Given the description of an element on the screen output the (x, y) to click on. 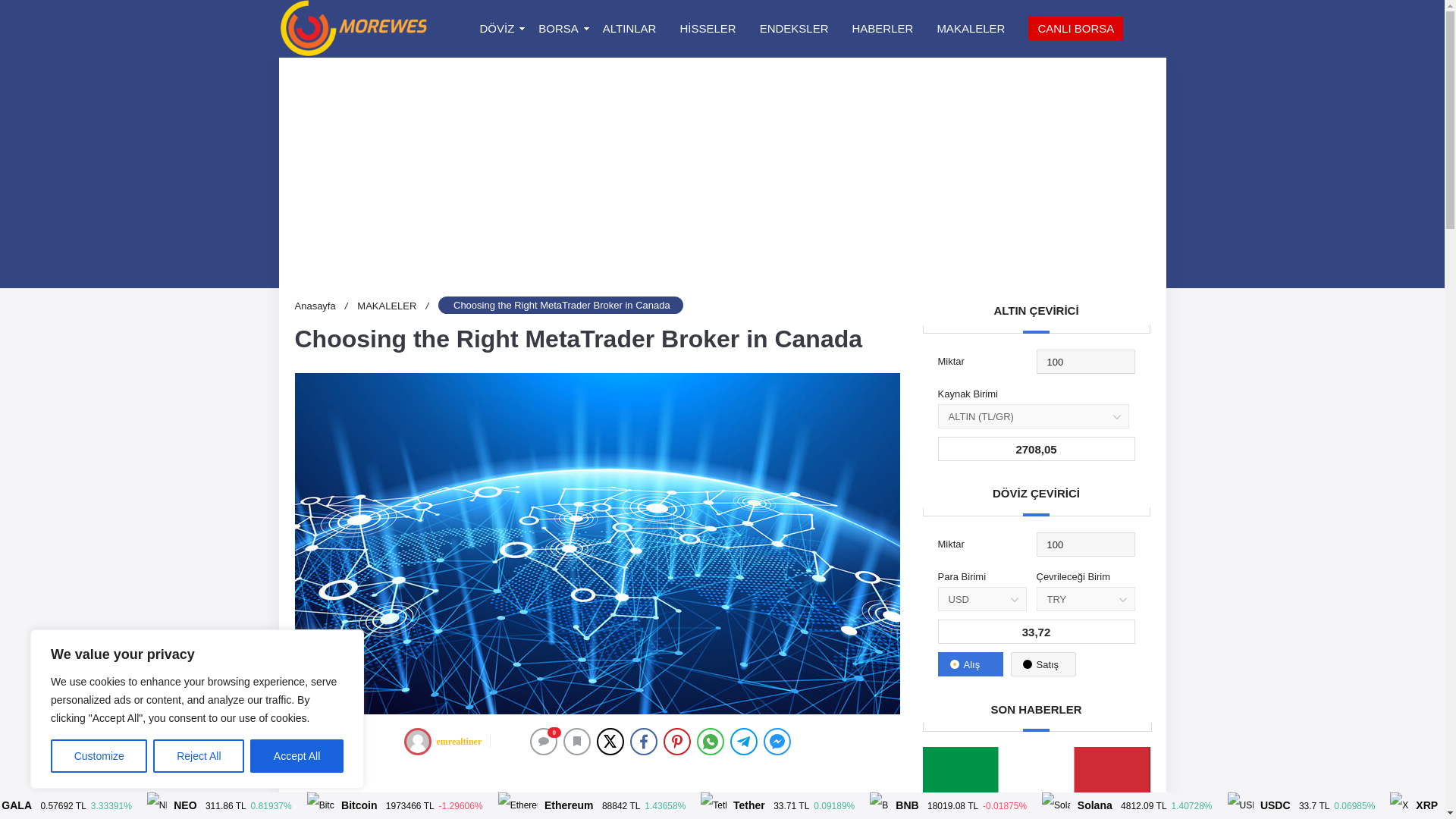
Reject All (198, 756)
ALTINLAR (629, 28)
Advertisement (596, 790)
Customize (98, 756)
Accept All (296, 756)
